Given the description of an element on the screen output the (x, y) to click on. 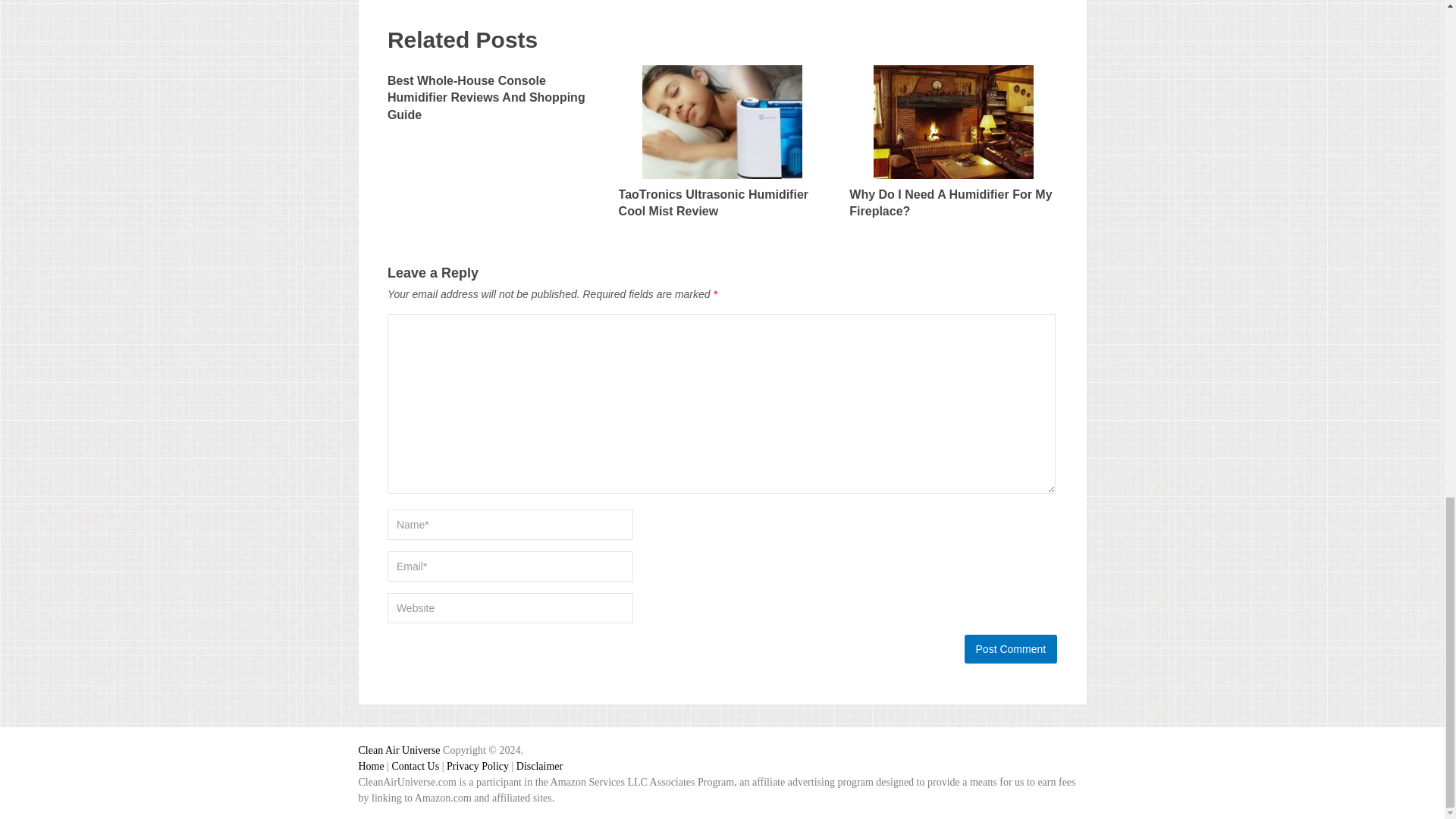
Why Do I Need A Humidifier For My Fireplace? (952, 147)
Why Do I Need A Humidifier For My Fireplace? (952, 147)
TaoTronics Ultrasonic Humidifier Cool Mist Review (722, 147)
Post Comment (1010, 648)
Post Comment (1010, 648)
Home (371, 766)
TaoTronics Ultrasonic Humidifier Cool Mist Review (722, 147)
Contact Us (415, 766)
